Given the description of an element on the screen output the (x, y) to click on. 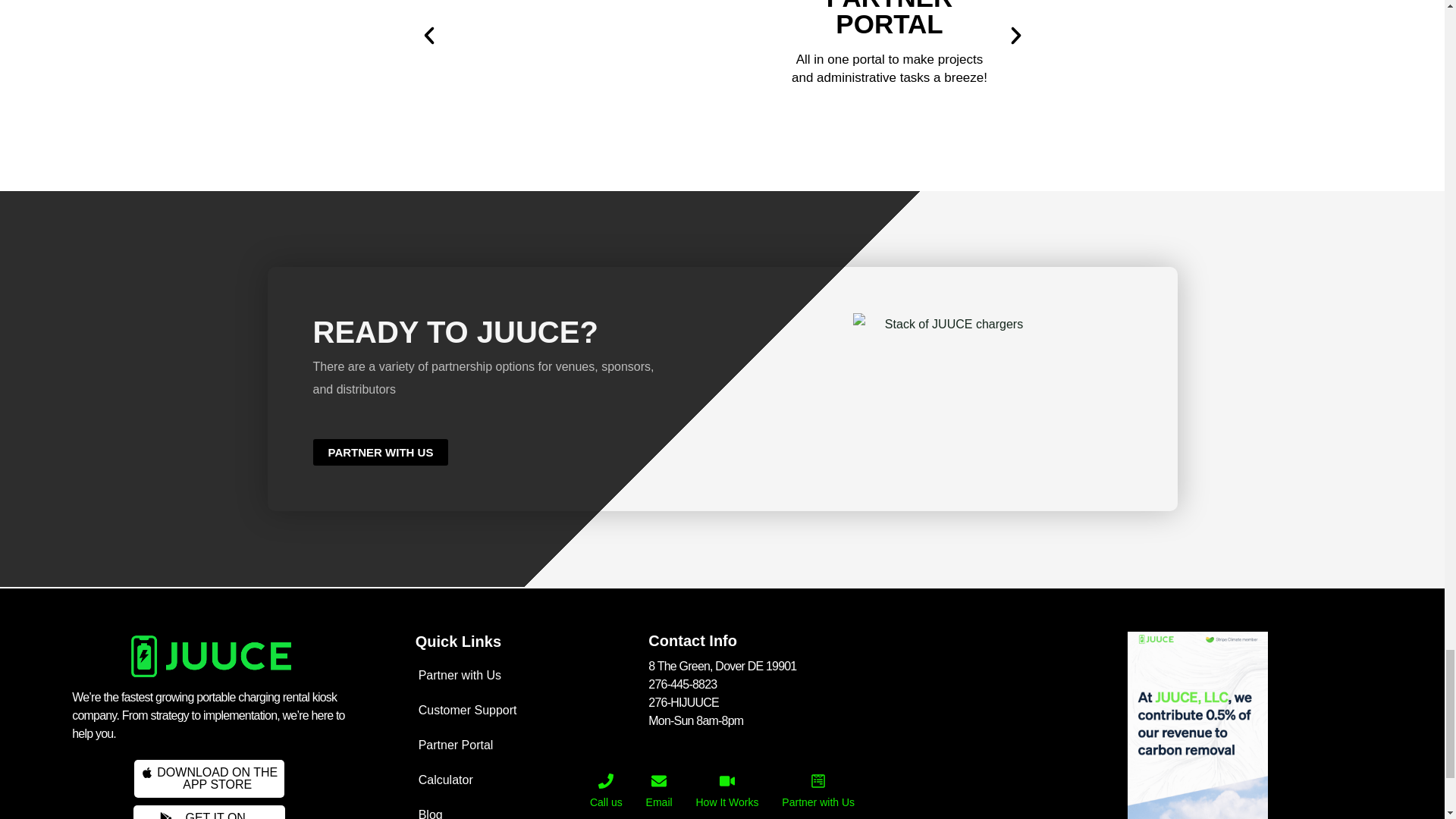
Partner Portal (209, 812)
Calculator (526, 745)
Stack of JUUCE chargers (208, 778)
PARTNER WITH US (526, 779)
Blog (947, 323)
Customer Support (380, 452)
8 the green (526, 808)
Partner with Us (526, 710)
